Given the description of an element on the screen output the (x, y) to click on. 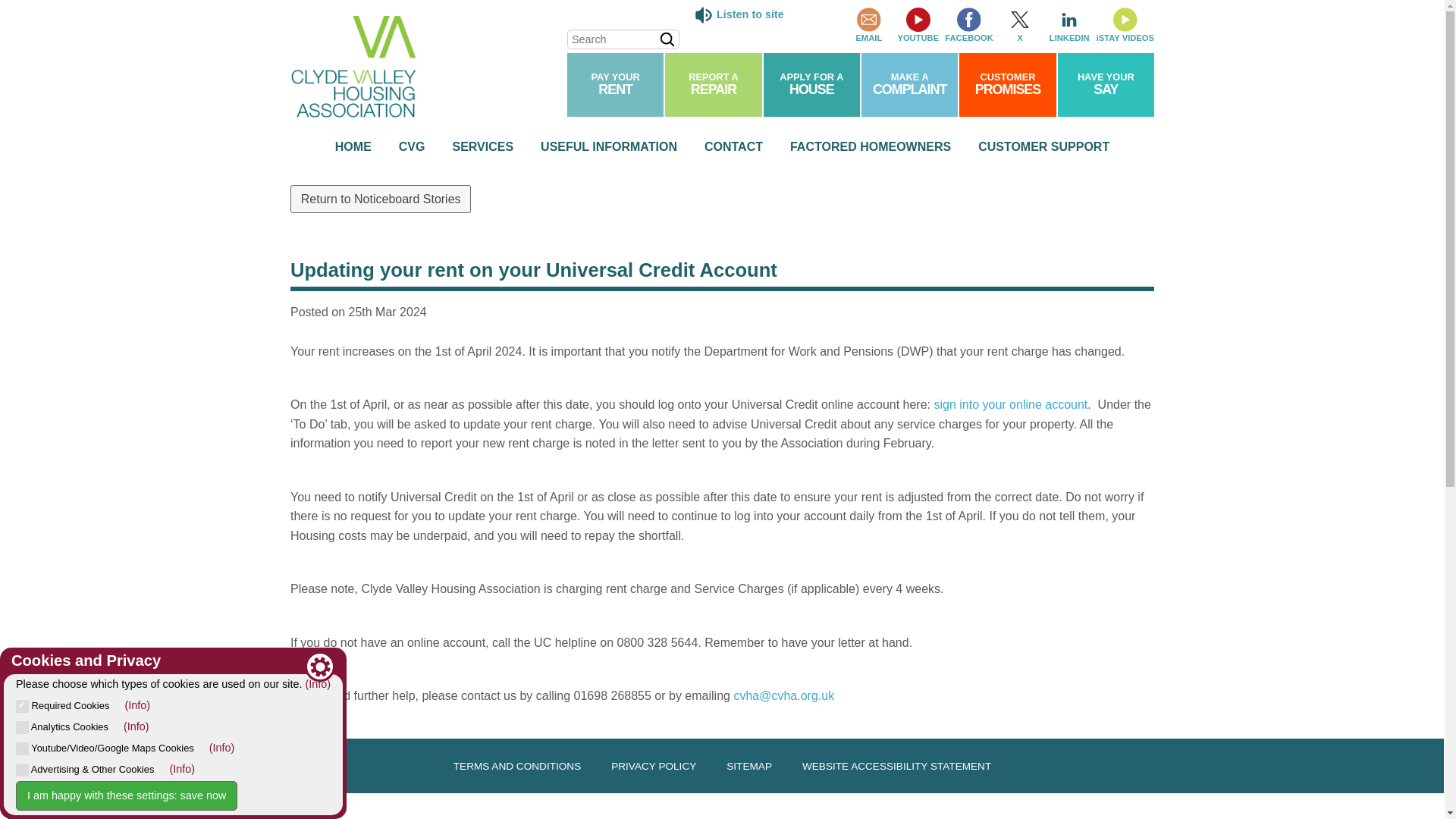
on (22, 769)
on (22, 748)
on (713, 85)
SERVICES (22, 727)
EMAIL (482, 146)
CVG (868, 26)
YOUTUBE (615, 85)
X (412, 146)
Listen to site (1007, 85)
FACEBOOK (917, 26)
